Given the description of an element on the screen output the (x, y) to click on. 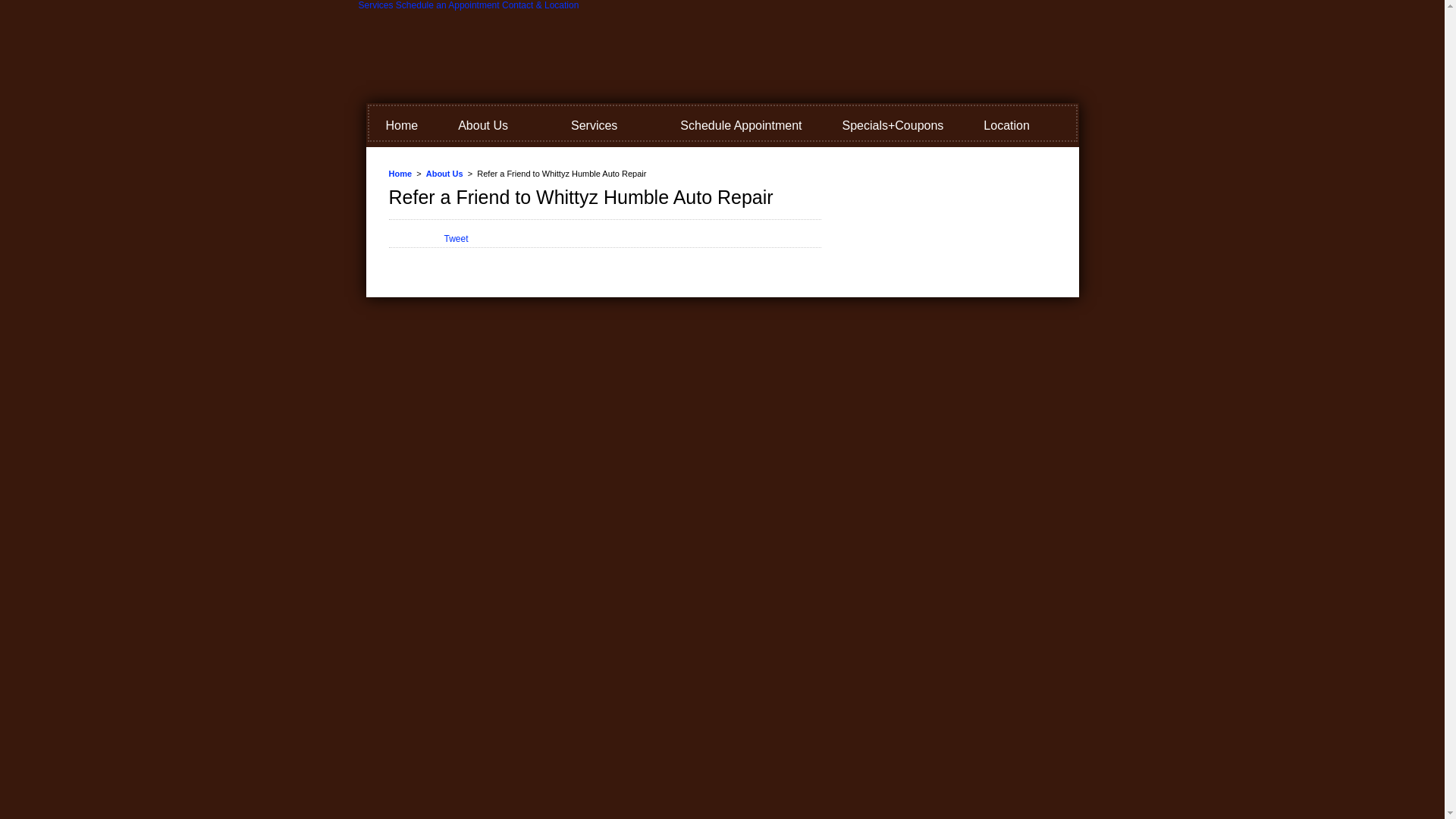
About Us (494, 126)
Services (375, 5)
Schedule an Appointment (447, 5)
Services (605, 126)
